Given the description of an element on the screen output the (x, y) to click on. 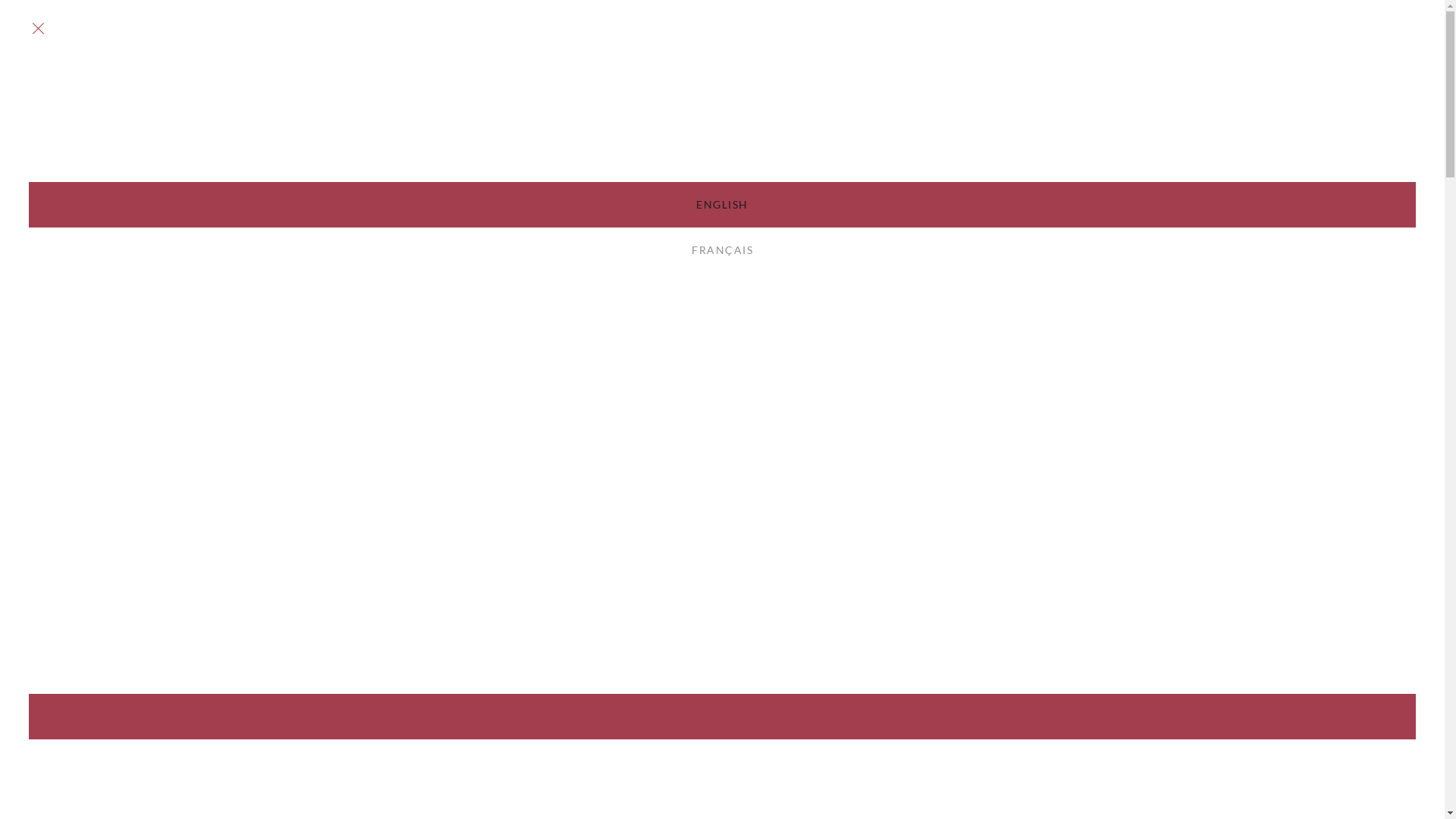
ENGLISH Element type: text (721, 204)
